Given the description of an element on the screen output the (x, y) to click on. 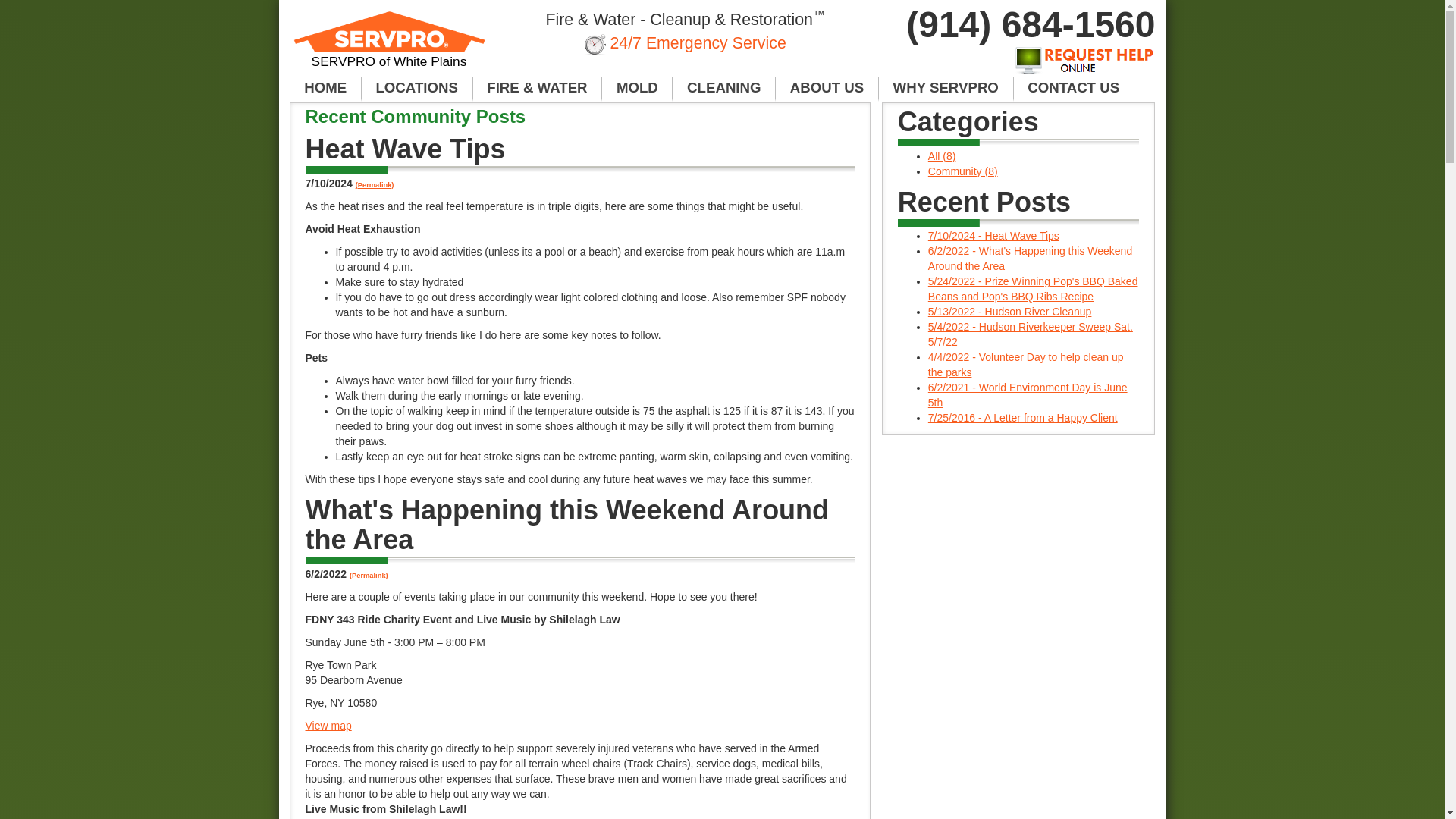
HOME (325, 88)
MOLD (637, 88)
CLEANING (724, 88)
SERVPRO of White Plains (389, 46)
LOCATIONS (417, 88)
ABOUT US (827, 88)
